Given the description of an element on the screen output the (x, y) to click on. 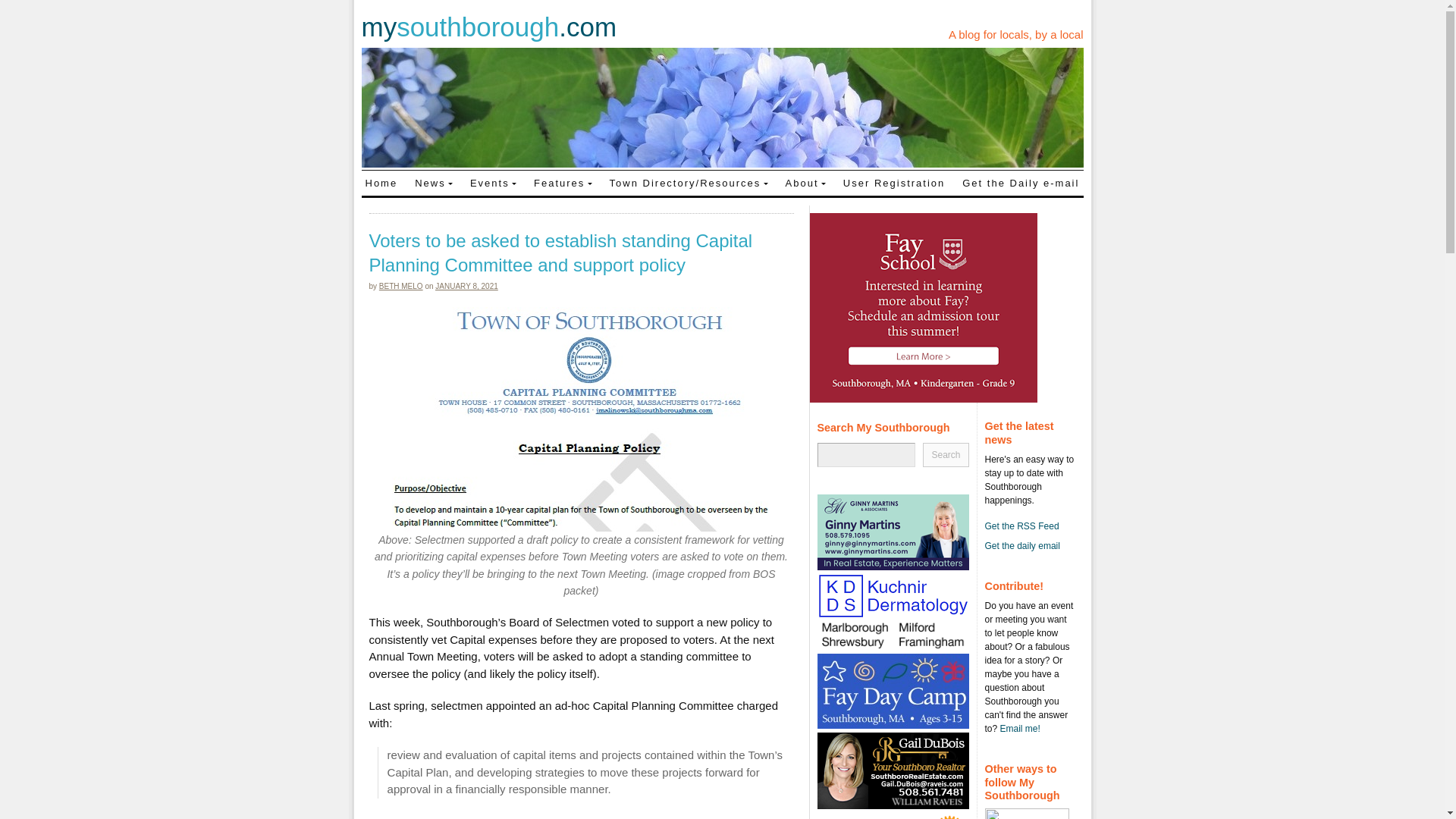
Features (562, 182)
Events (492, 182)
News (433, 182)
News (433, 182)
Home (381, 182)
A blog for locals, by a local (1016, 33)
mysouthborough.com (488, 26)
Home (381, 182)
Events (492, 182)
